Given the description of an element on the screen output the (x, y) to click on. 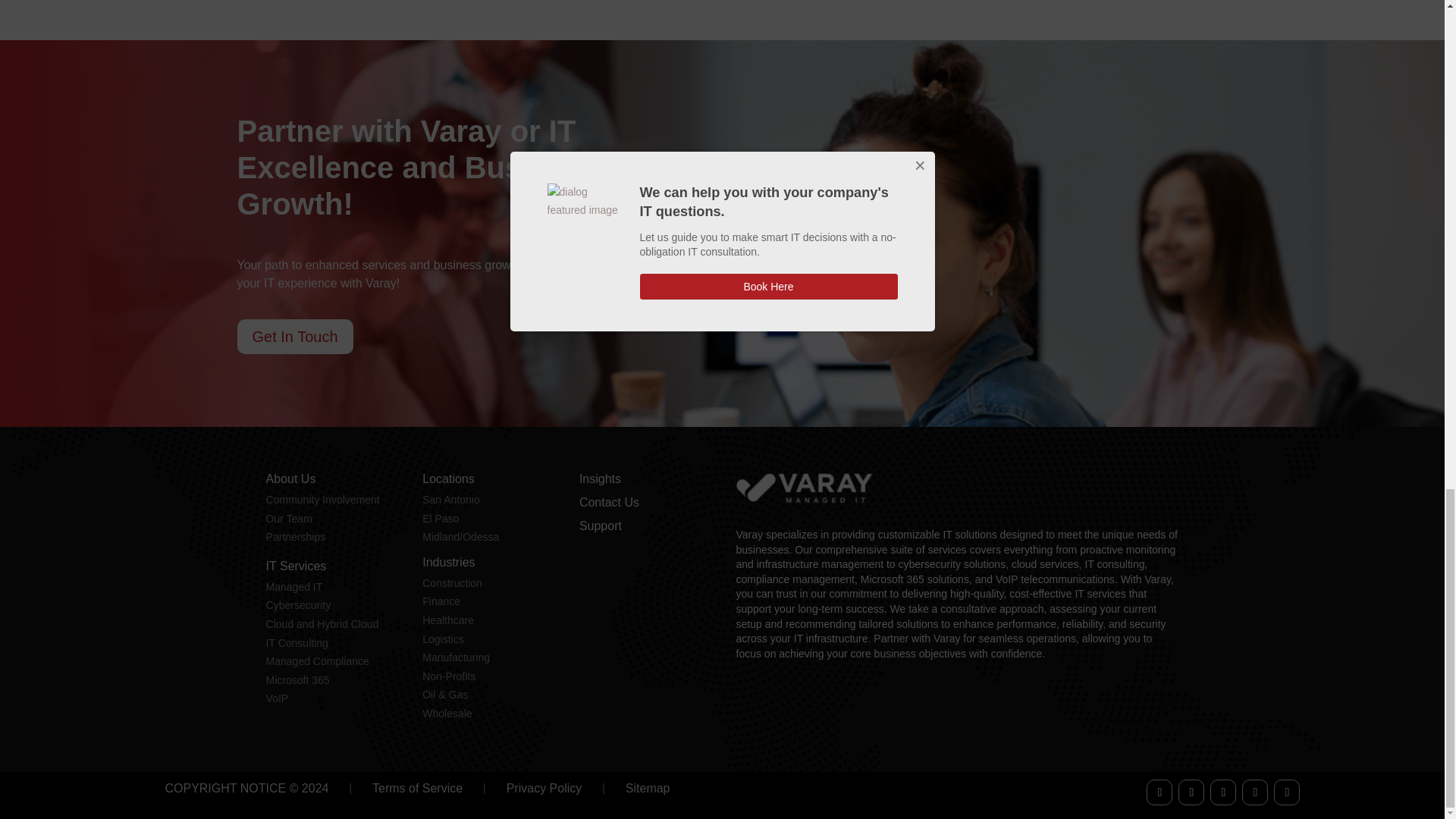
Follow on LinkedIn (1222, 792)
Follow on X (1190, 792)
Follow on Youtube (1254, 792)
Follow on Facebook (1159, 792)
Follow on Instagram (1287, 792)
